Given the description of an element on the screen output the (x, y) to click on. 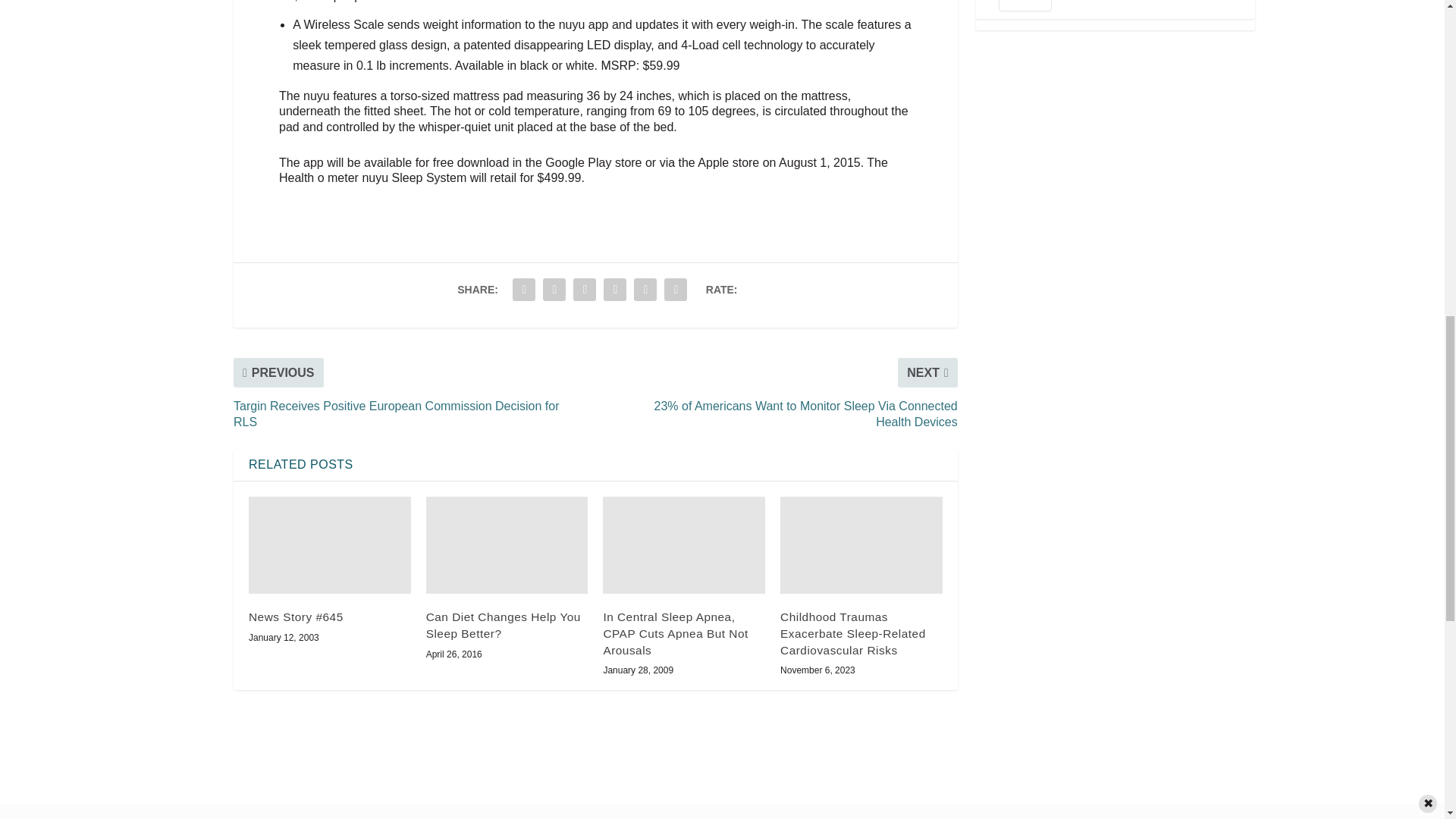
Can Diet Changes Help You Sleep Better? (507, 544)
In Central Sleep Apnea, CPAP Cuts Apnea But Not Arousals (683, 544)
